Given the description of an element on the screen output the (x, y) to click on. 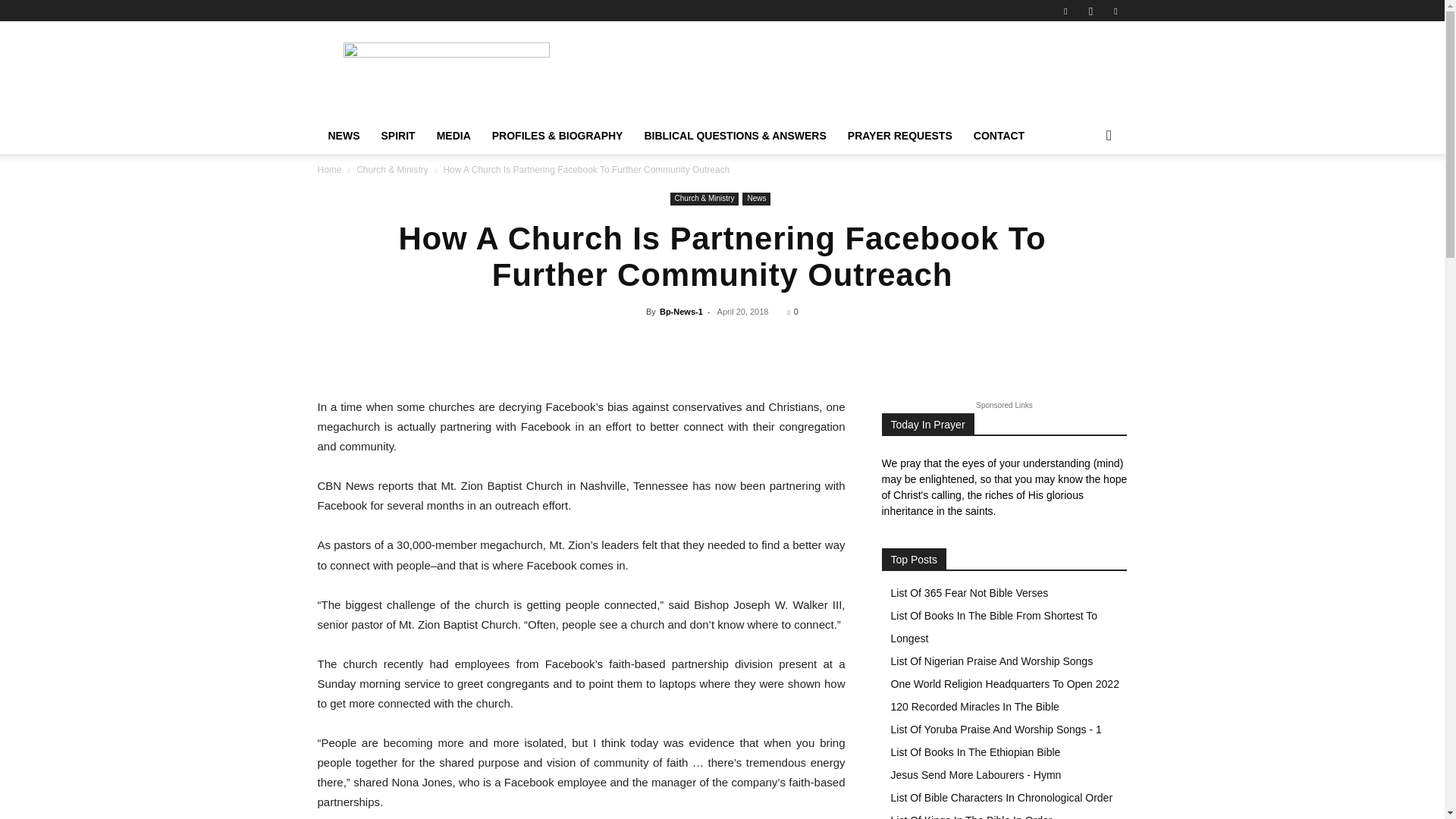
PRAYER REQUESTS (899, 135)
Facebook (1065, 10)
SPIRIT (397, 135)
Twitter (1114, 10)
NEWS (343, 135)
Instagram (1090, 10)
MEDIA (453, 135)
